Given the description of an element on the screen output the (x, y) to click on. 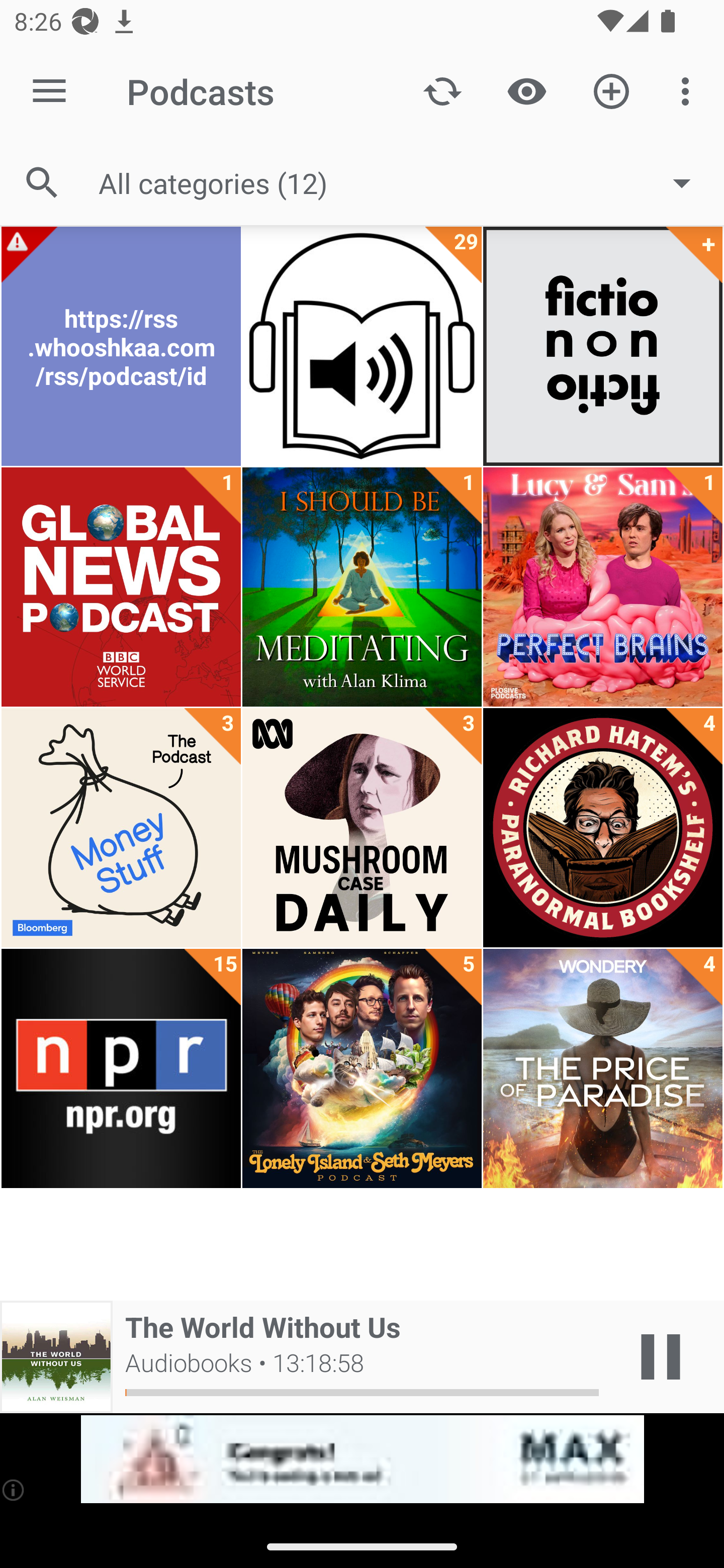
Open navigation sidebar (49, 91)
Update (442, 90)
Show / Hide played content (526, 90)
Add new Podcast (611, 90)
More options (688, 90)
Search (42, 183)
All categories (12) (404, 182)
https://rss.whooshkaa.com/rss/podcast/id/5884 (121, 346)
Audiobooks 29 (361, 346)
fiction/non/fiction + (602, 346)
Global News Podcast 1 (121, 587)
Lucy & Sam's Perfect Brains 1 (602, 587)
Money Stuff: The Podcast 3 (121, 827)
Mushroom Case Daily 3 (361, 827)
Richard Hatem's Paranormal Bookshelf 4 (602, 827)
Stories from NPR : NPR 15 (121, 1068)
The Lonely Island and Seth Meyers Podcast 5 (361, 1068)
The Price of Paradise 4 (602, 1068)
Play / Pause (660, 1356)
app-monetization (362, 1459)
(i) (14, 1489)
